Given the description of an element on the screen output the (x, y) to click on. 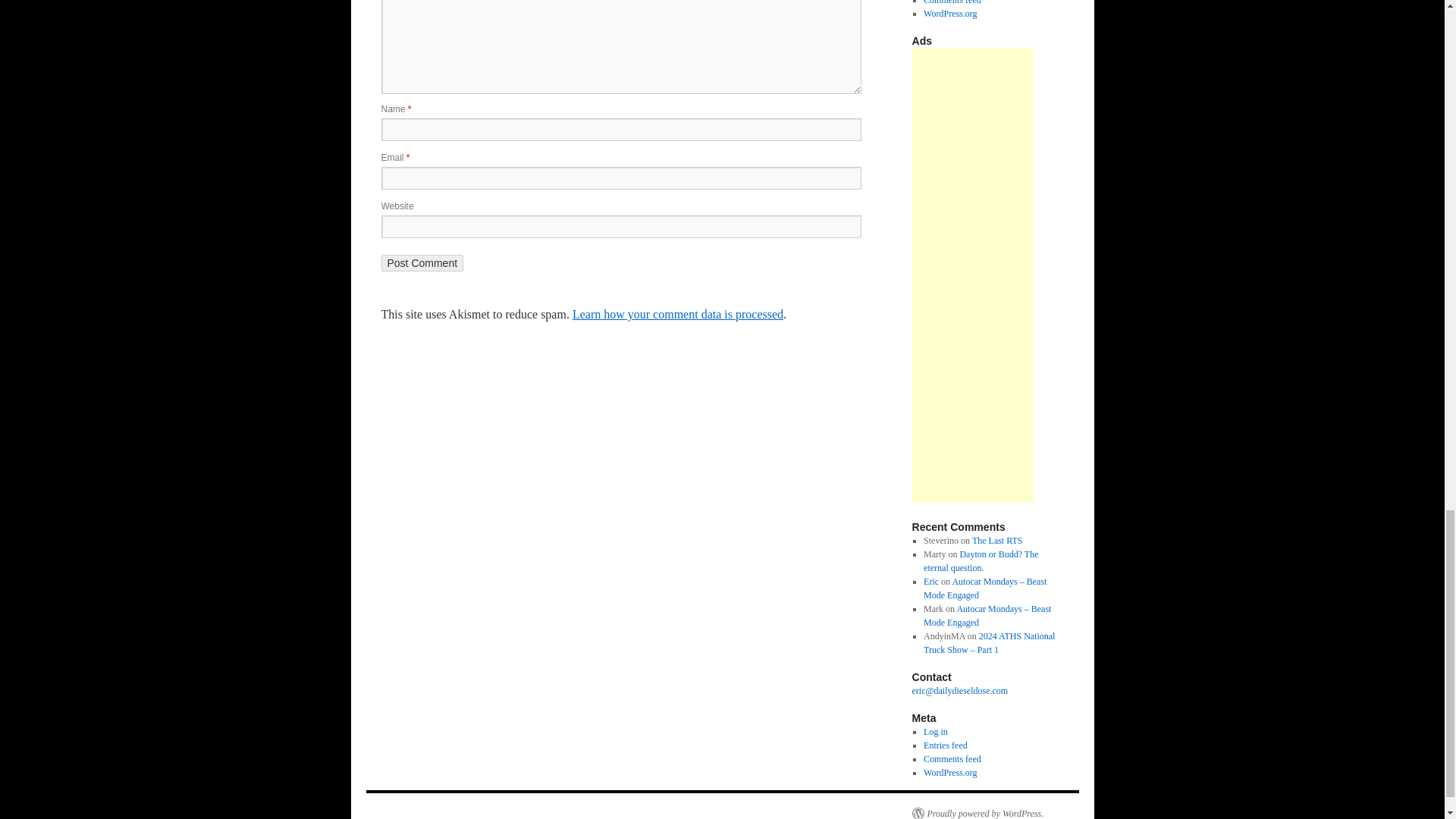
Post Comment (421, 262)
Learn how your comment data is processed (677, 314)
Post Comment (421, 262)
